Given the description of an element on the screen output the (x, y) to click on. 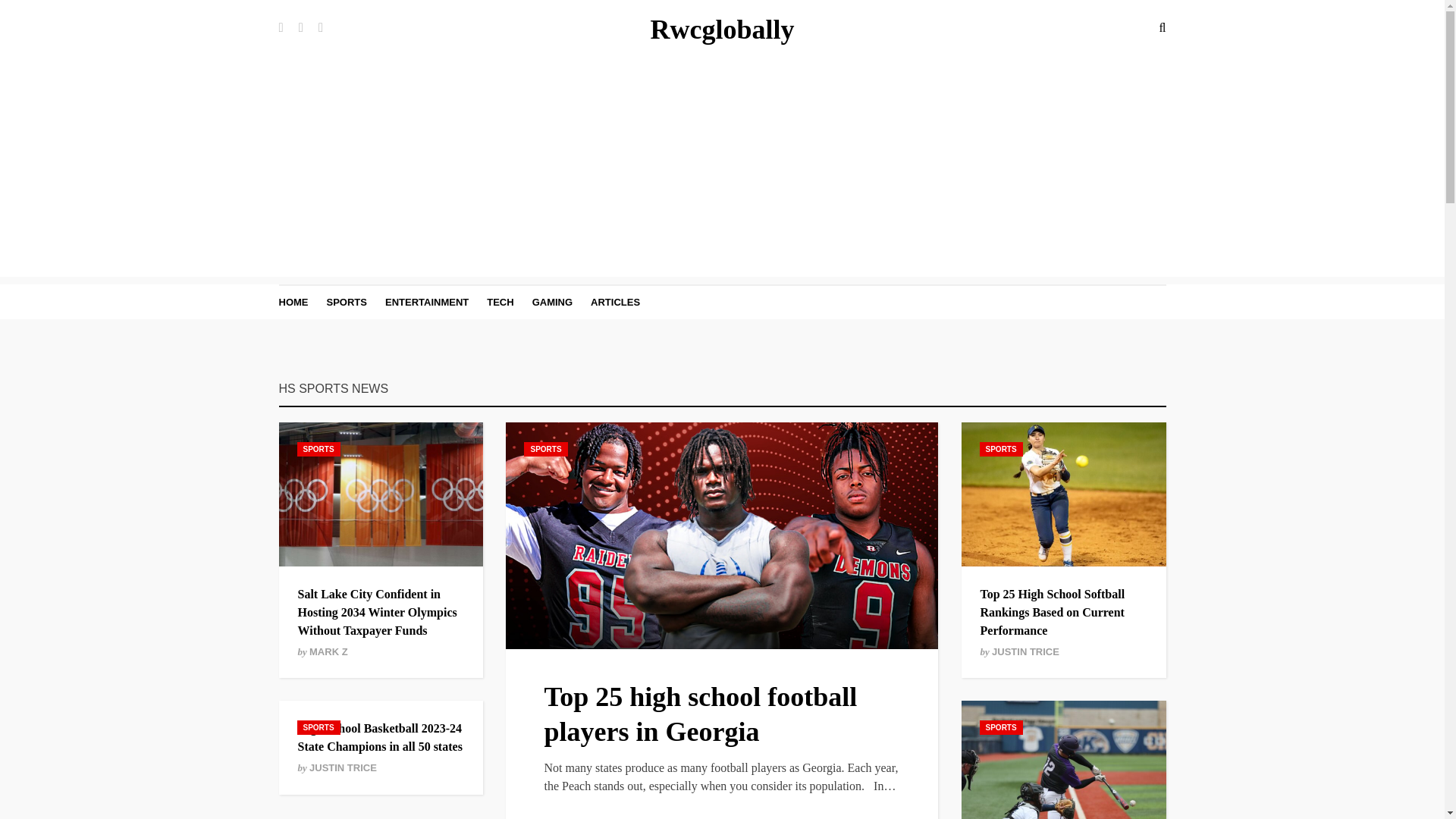
SPORTS (545, 449)
SPORTS (318, 727)
SPORTS (1001, 727)
ENTERTAINMENT (426, 302)
MARK Z (327, 651)
Rwcglobally (721, 29)
ARTICLES (615, 302)
SPORTS (318, 449)
